Given the description of an element on the screen output the (x, y) to click on. 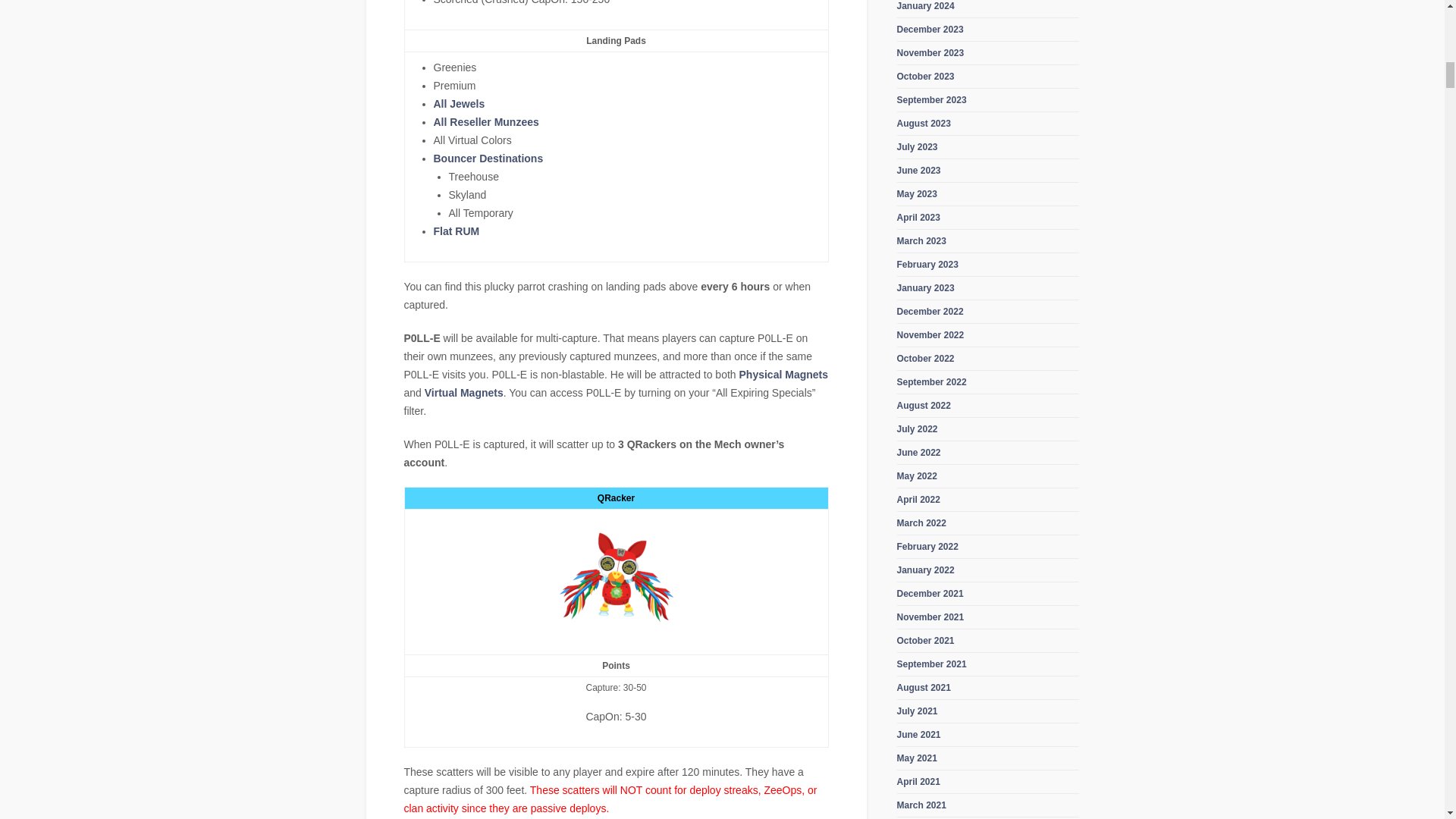
Physical Magnets (783, 374)
All Jewels (458, 103)
Flat RUM (456, 231)
Virtual Magnets (464, 392)
All Reseller Munzees (485, 121)
Bouncer Destinations (488, 158)
